Given the description of an element on the screen output the (x, y) to click on. 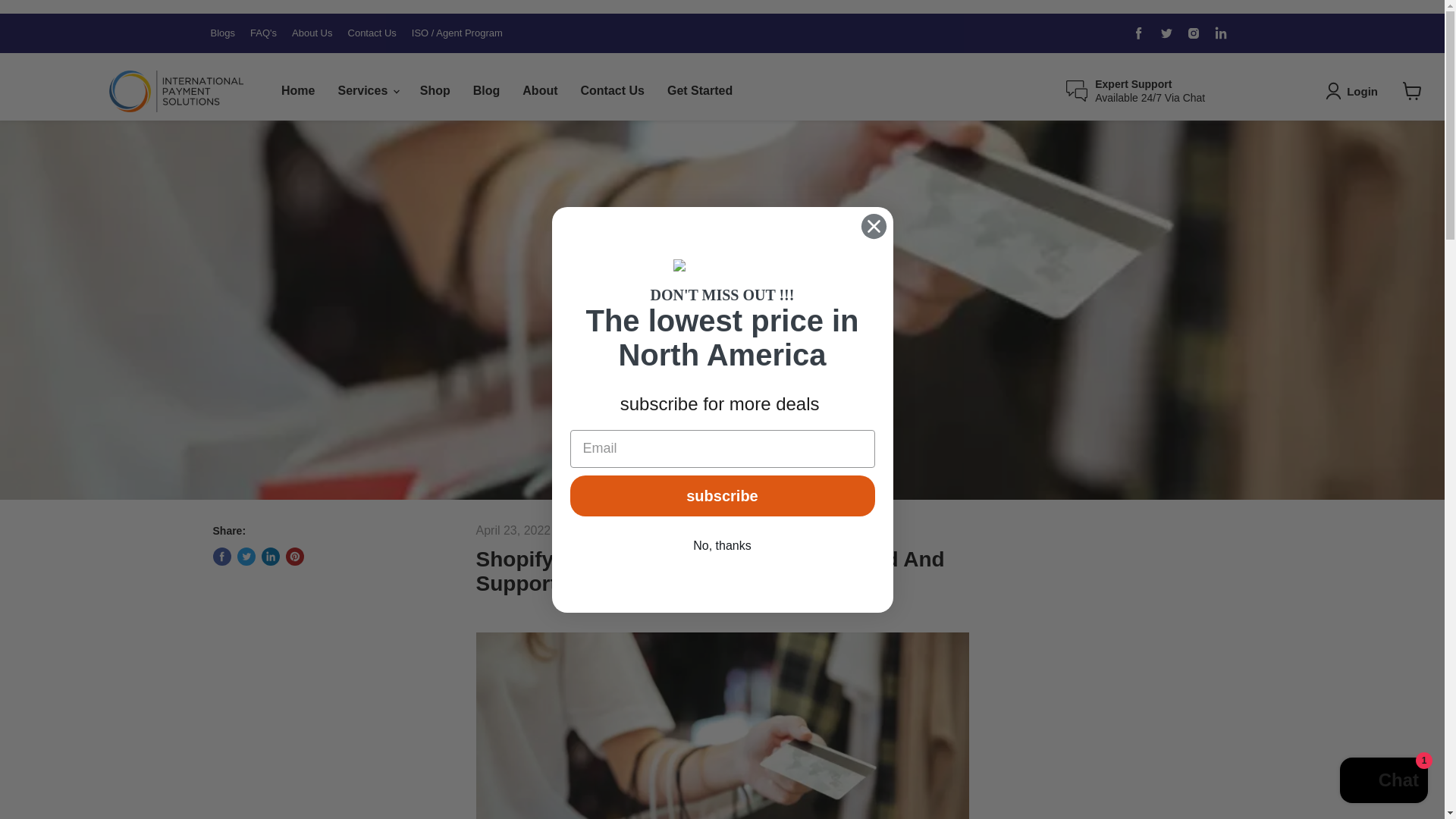
Blogs (223, 33)
Find us on LinkedIn (1220, 33)
About Us (311, 33)
Contact Us (612, 91)
Twitter (1166, 33)
Find us on Instagram (1193, 33)
About (540, 91)
Facebook (1139, 33)
Instagram (1193, 33)
Home (297, 91)
Shop (435, 91)
LinkedIn (1220, 33)
Find us on Facebook (1139, 33)
Contact Us (371, 33)
Get Started (700, 91)
